Given the description of an element on the screen output the (x, y) to click on. 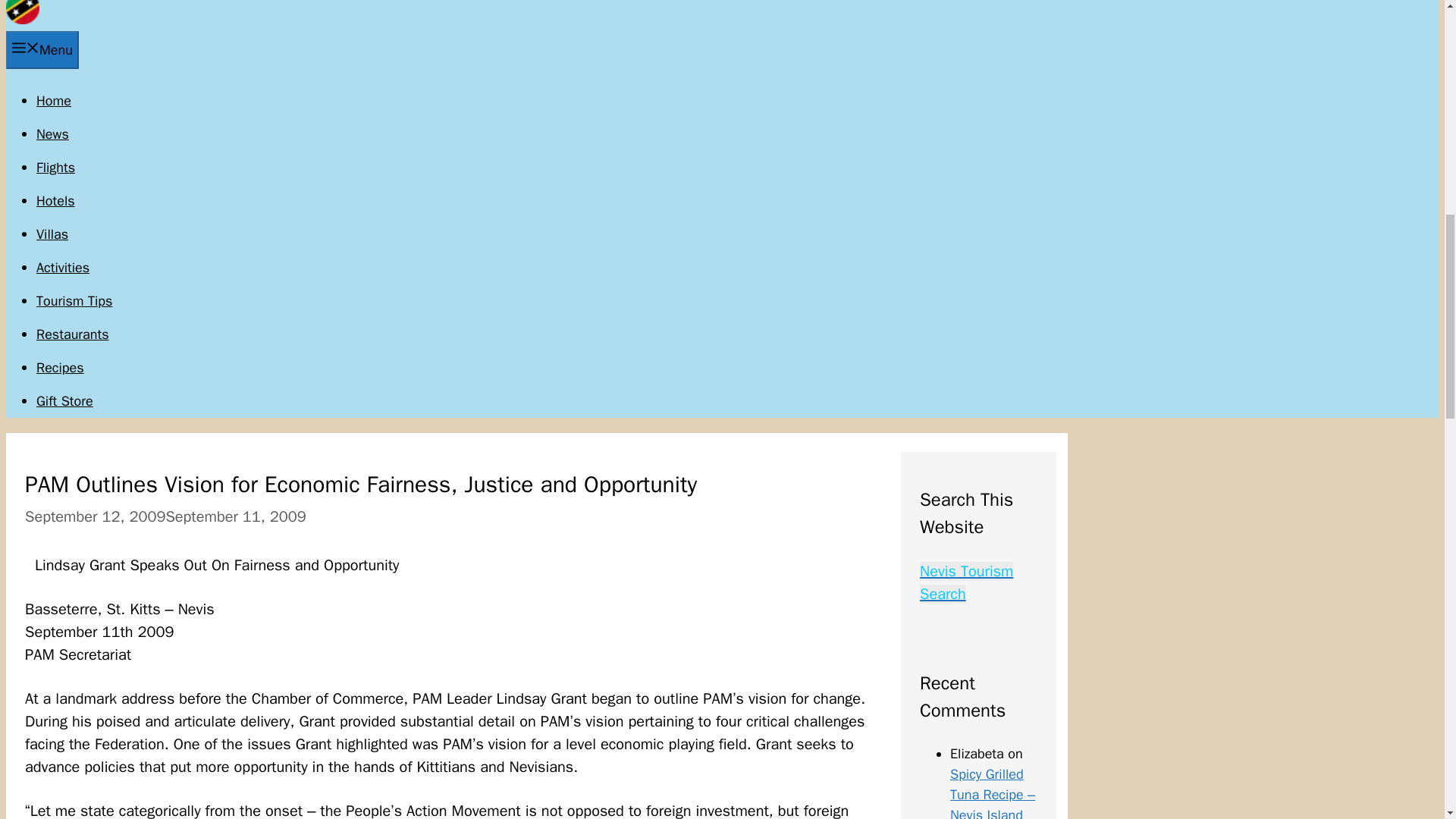
Activities (62, 267)
Tourism Tips (74, 300)
Flights (55, 167)
Home (53, 100)
Nevis Island News and Notes (22, 19)
Menu (41, 49)
News (52, 134)
Nevis Flight Information (55, 167)
Hotels (55, 200)
Gift Store (64, 401)
Nevis Tourism Search (966, 582)
Restaurants (72, 334)
Nevis News (52, 134)
Recipes (60, 367)
Villas (52, 234)
